Given the description of an element on the screen output the (x, y) to click on. 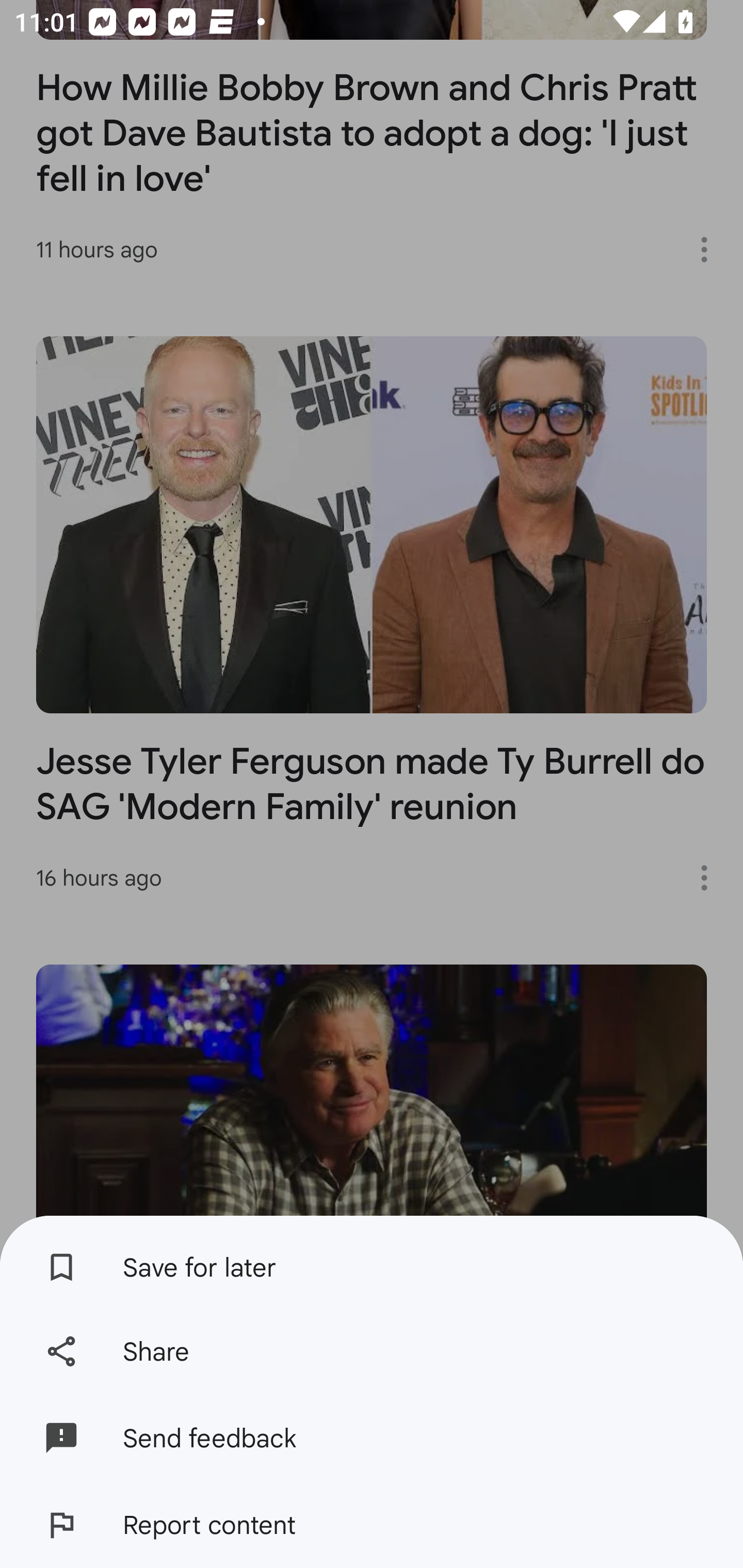
Save for later (371, 1261)
Share (371, 1350)
Send feedback (371, 1437)
Report content (371, 1524)
